Given the description of an element on the screen output the (x, y) to click on. 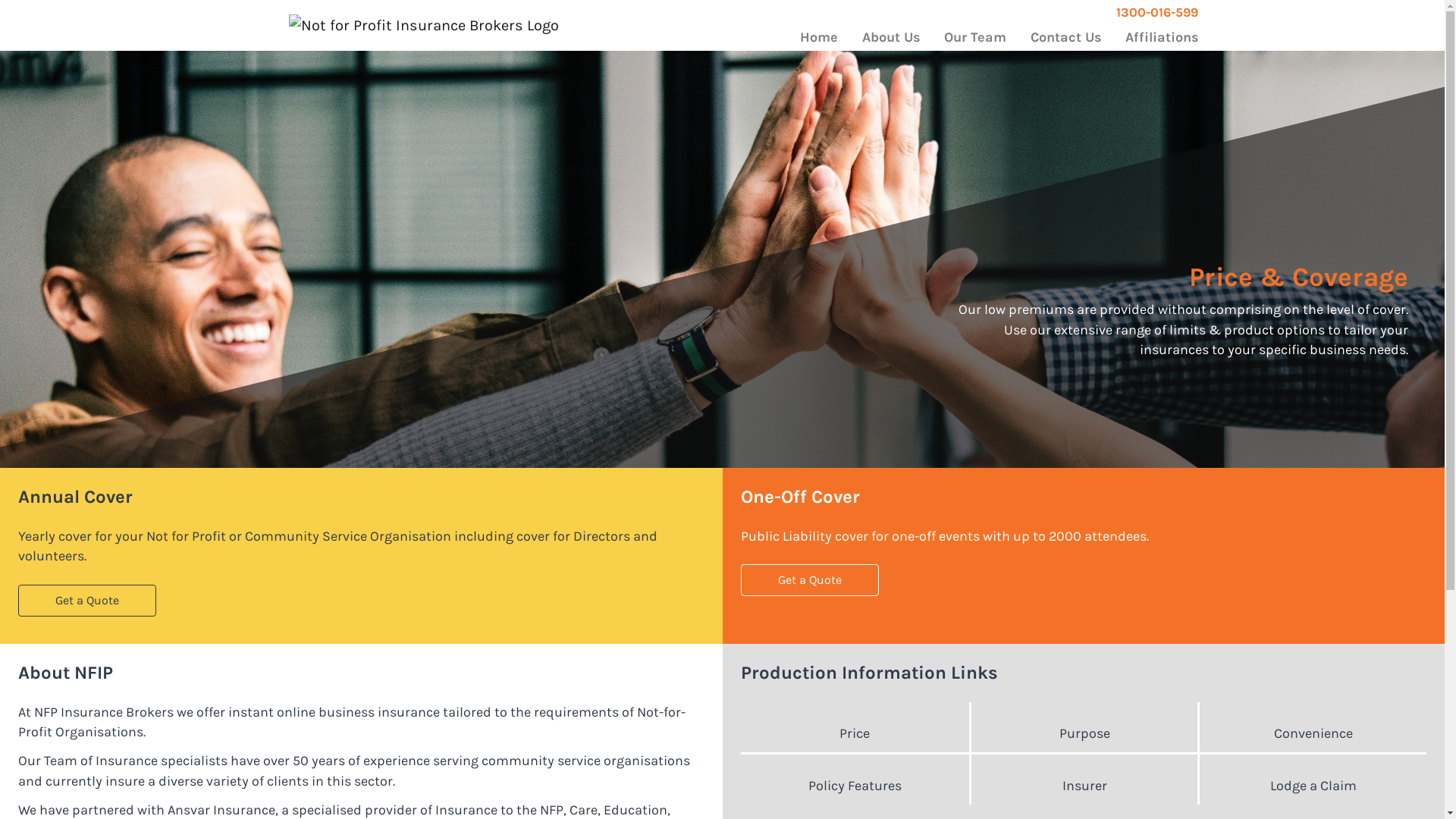
Get a Quote Element type: text (87, 600)
Get a Quote Element type: text (809, 580)
Affiliations Element type: text (1161, 37)
Lodge a Claim Element type: text (1312, 785)
Home Element type: text (818, 37)
Convenience Element type: text (1312, 733)
Contact Us Element type: text (1064, 37)
About Us Element type: text (890, 37)
Purpose Element type: text (1084, 733)
Policy Features Element type: text (854, 785)
Price Element type: text (854, 733)
Insurer Element type: text (1084, 785)
Not for Profit Insurance Brokers Logo Element type: hover (423, 25)
Our Team Element type: text (974, 37)
